Given the description of an element on the screen output the (x, y) to click on. 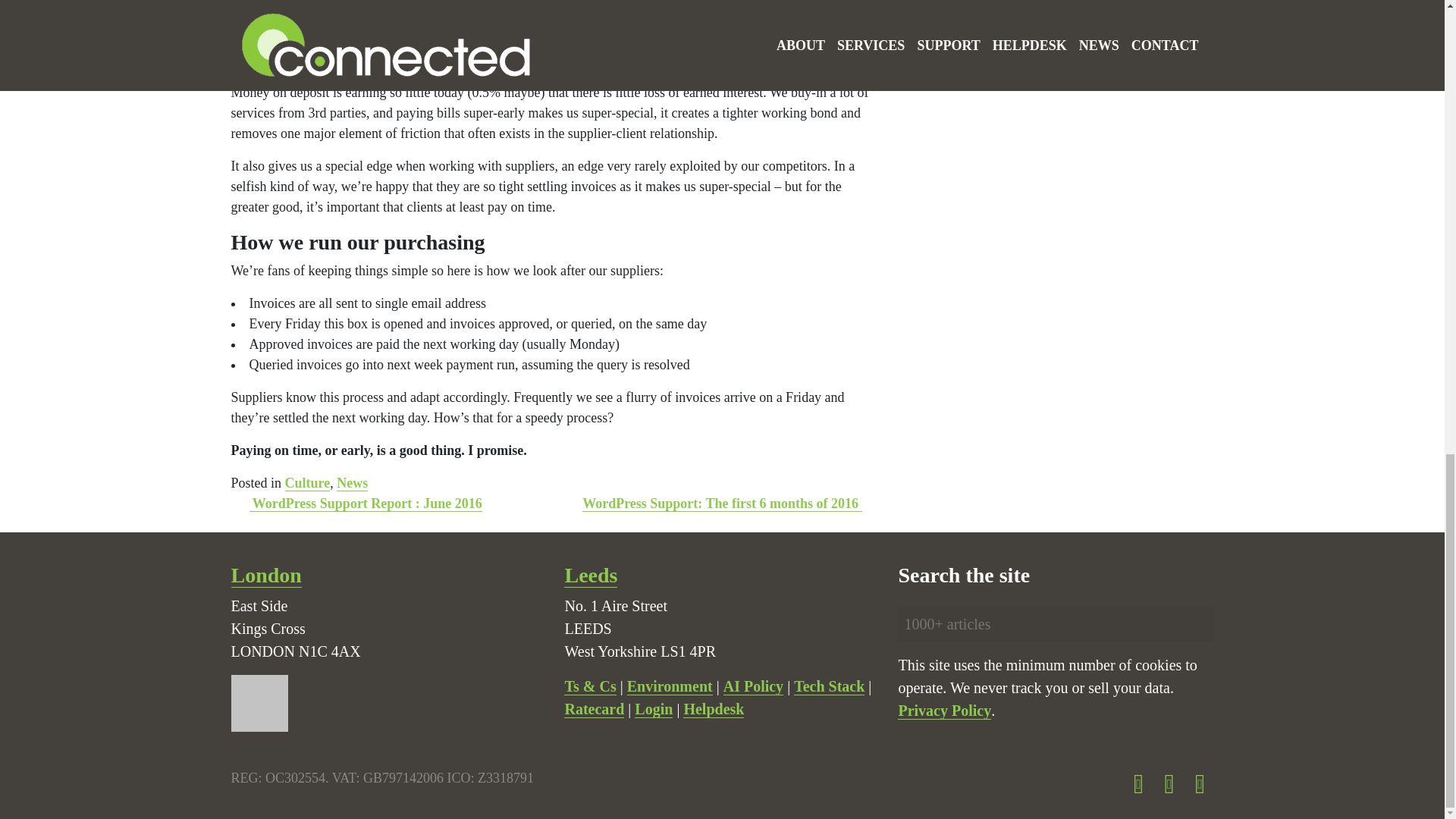
Our London Agency Office in Kings Cross (265, 575)
Environmental pledge 2020 (670, 686)
 WordPress Support Report : June 2016 (364, 503)
News (352, 483)
Culture (307, 483)
Our Leeds agency Office in Leeds train station (590, 575)
WordPress Support: The first 6 months of 2016  (721, 503)
